Given the description of an element on the screen output the (x, y) to click on. 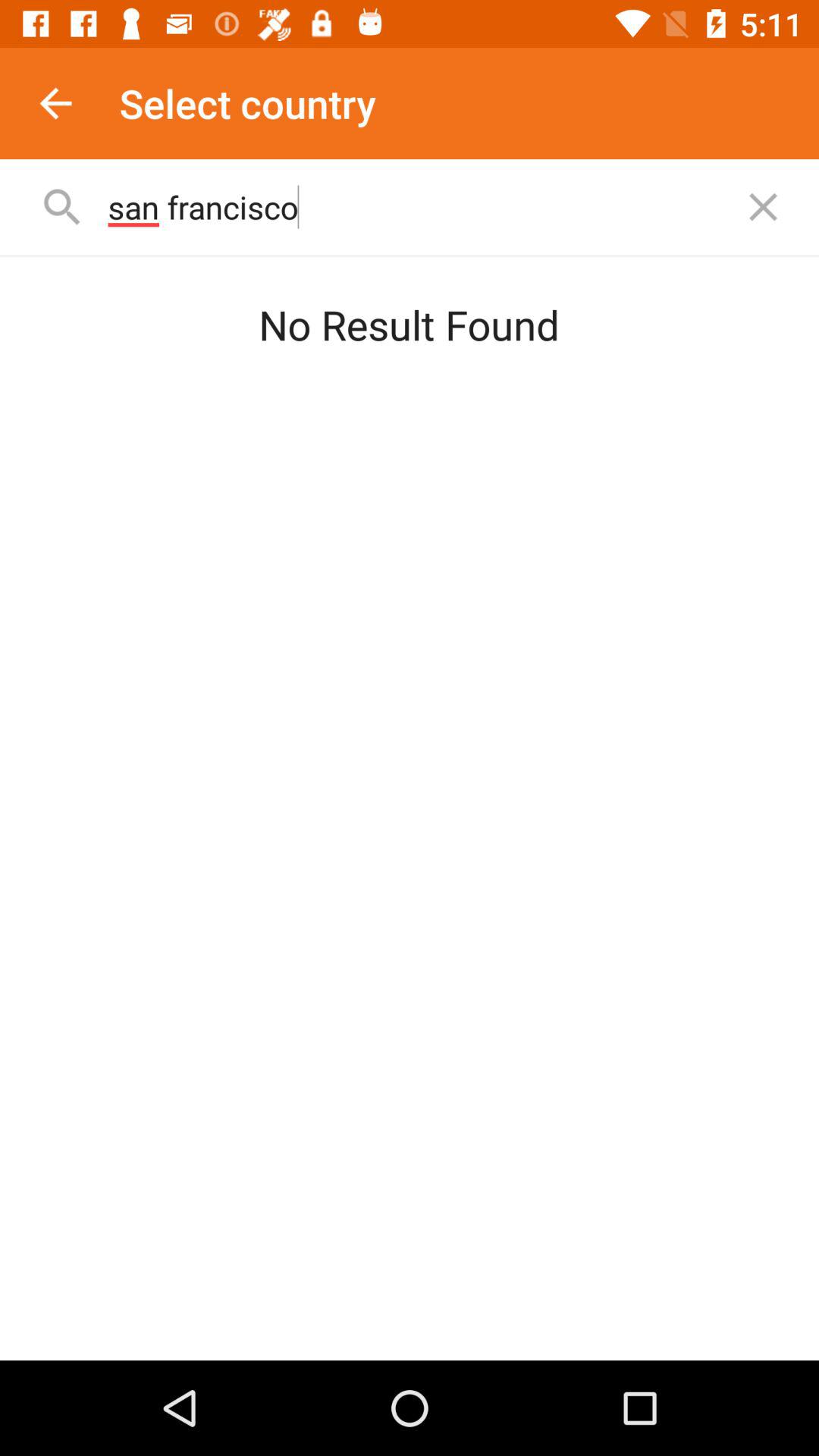
press app next to select country item (55, 103)
